Given the description of an element on the screen output the (x, y) to click on. 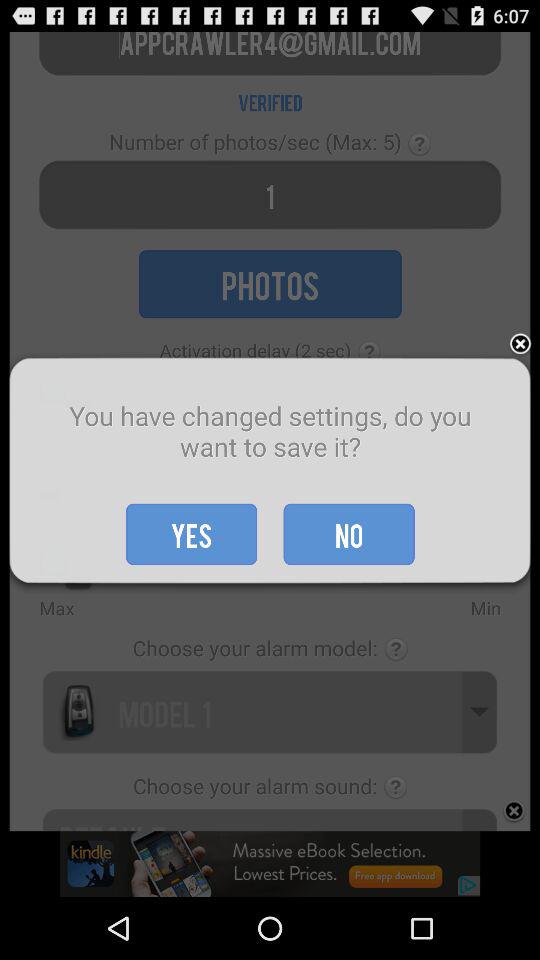
choose no item (348, 534)
